Given the description of an element on the screen output the (x, y) to click on. 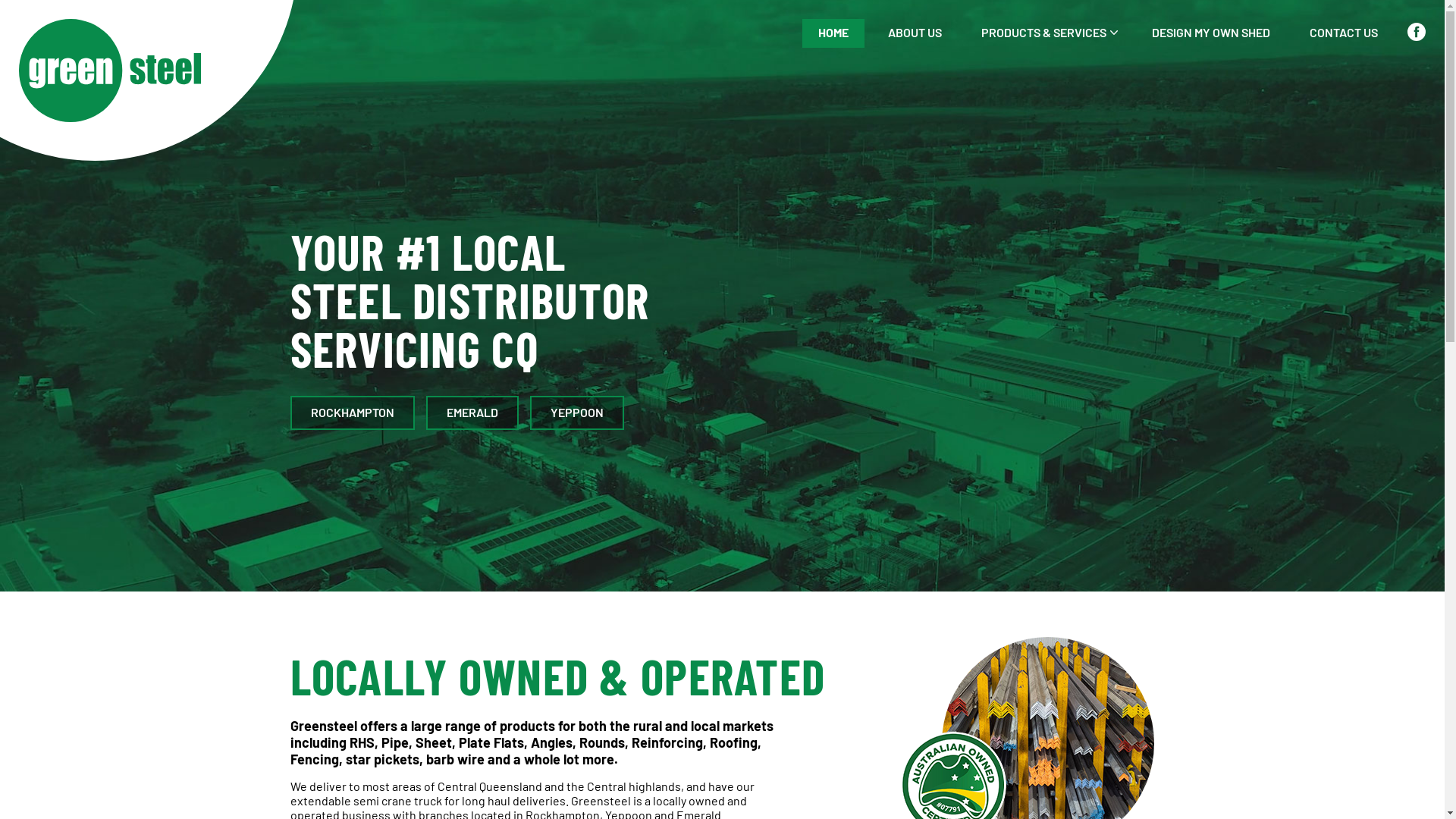
ROCKHAMPTON Element type: text (351, 412)
EMERALD Element type: text (472, 412)
PRODUCTS & SERVICES Element type: text (1046, 32)
ABOUT US Element type: text (914, 32)
CONTACT US Element type: text (1343, 32)
HOME Element type: text (833, 32)
Home Element type: text (722, 182)
DESIGN MY OWN SHED Element type: text (1210, 32)
YEPPOON Element type: text (576, 412)
